Given the description of an element on the screen output the (x, y) to click on. 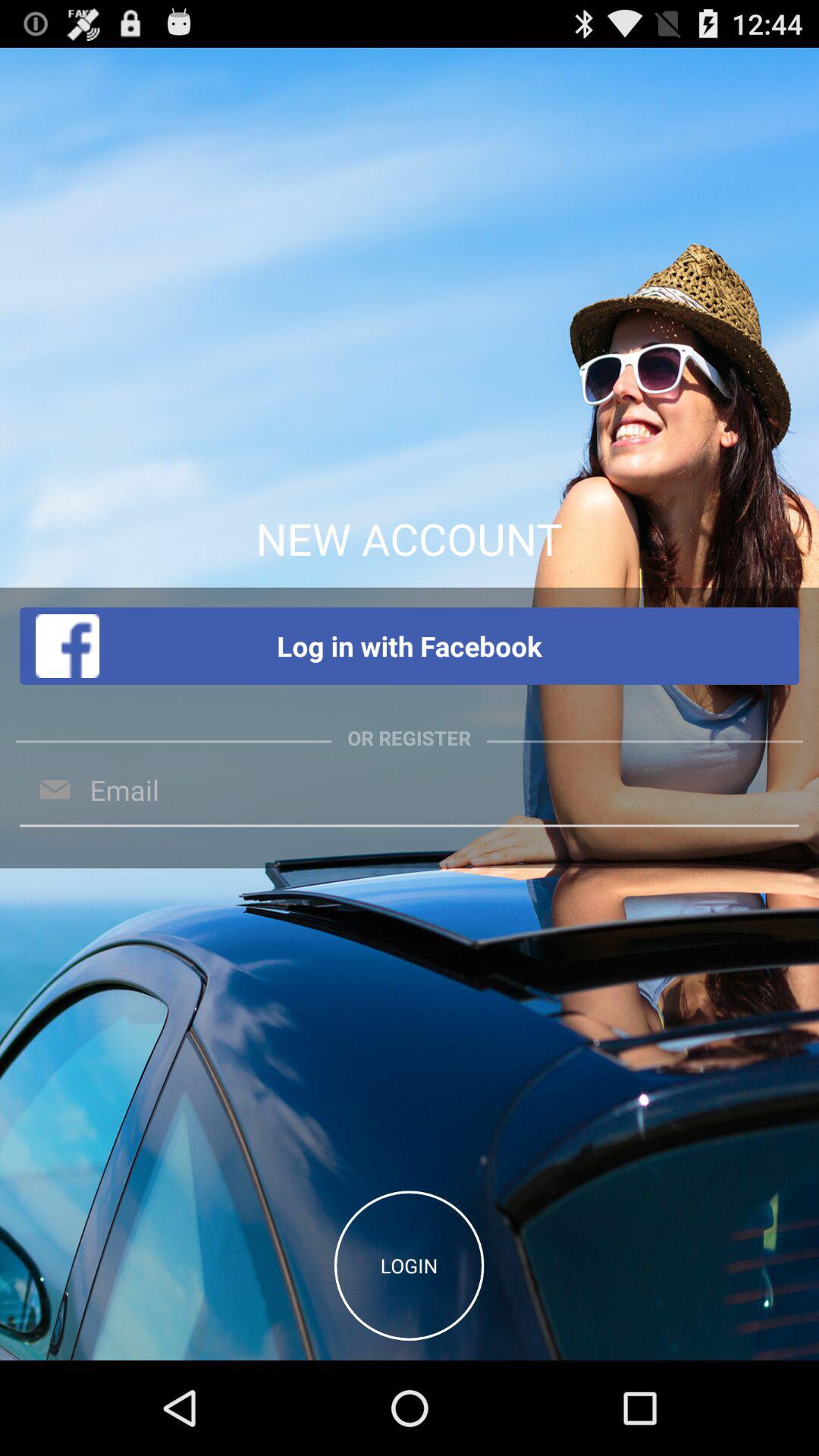
jump until log in with item (409, 645)
